Given the description of an element on the screen output the (x, y) to click on. 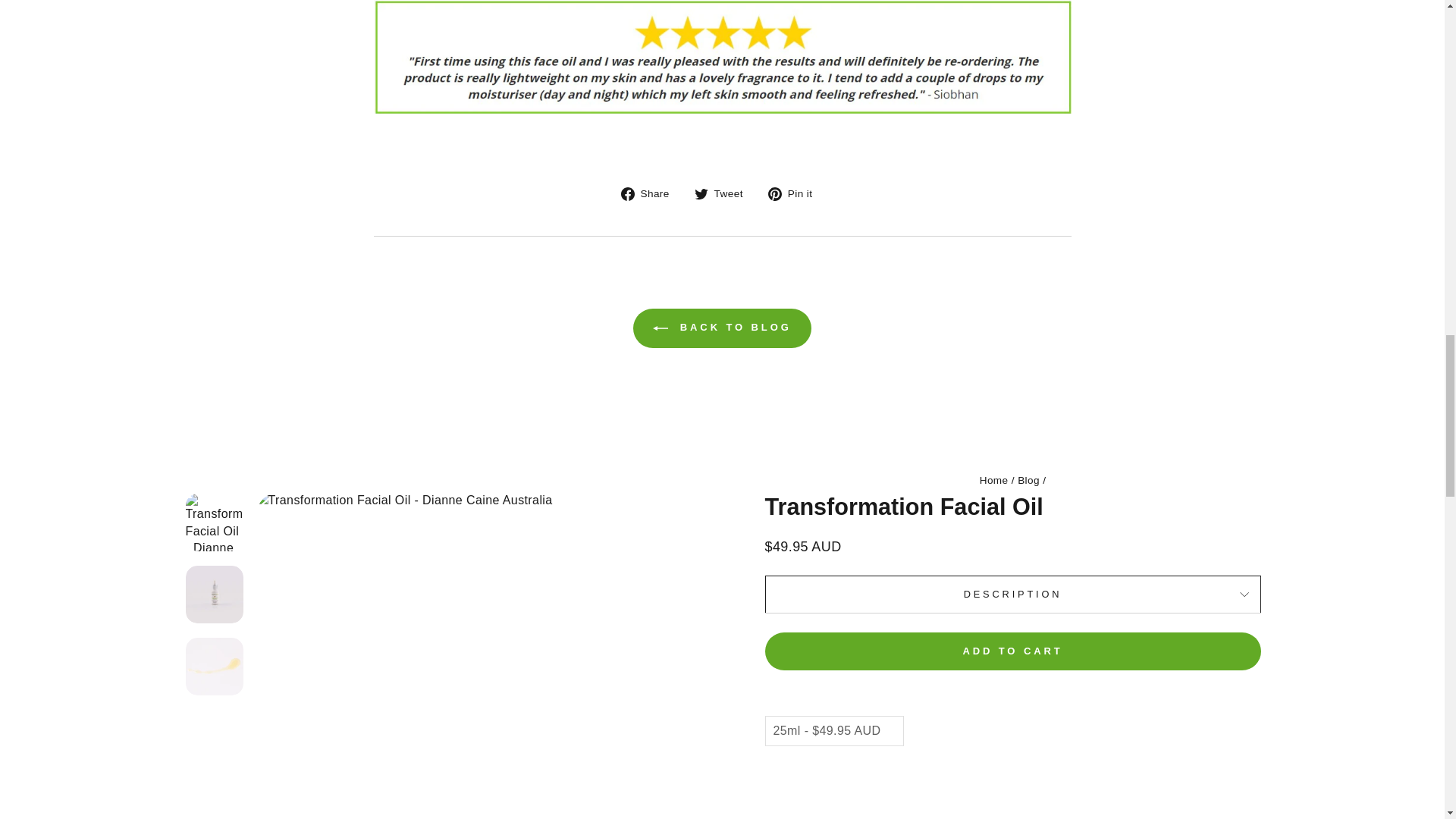
Tweet on Twitter (724, 193)
Share on Facebook (651, 193)
ICON-LEFT-ARROW (660, 328)
Back to the frontpage (994, 480)
twitter (700, 193)
Pin on Pinterest (796, 193)
